Given the description of an element on the screen output the (x, y) to click on. 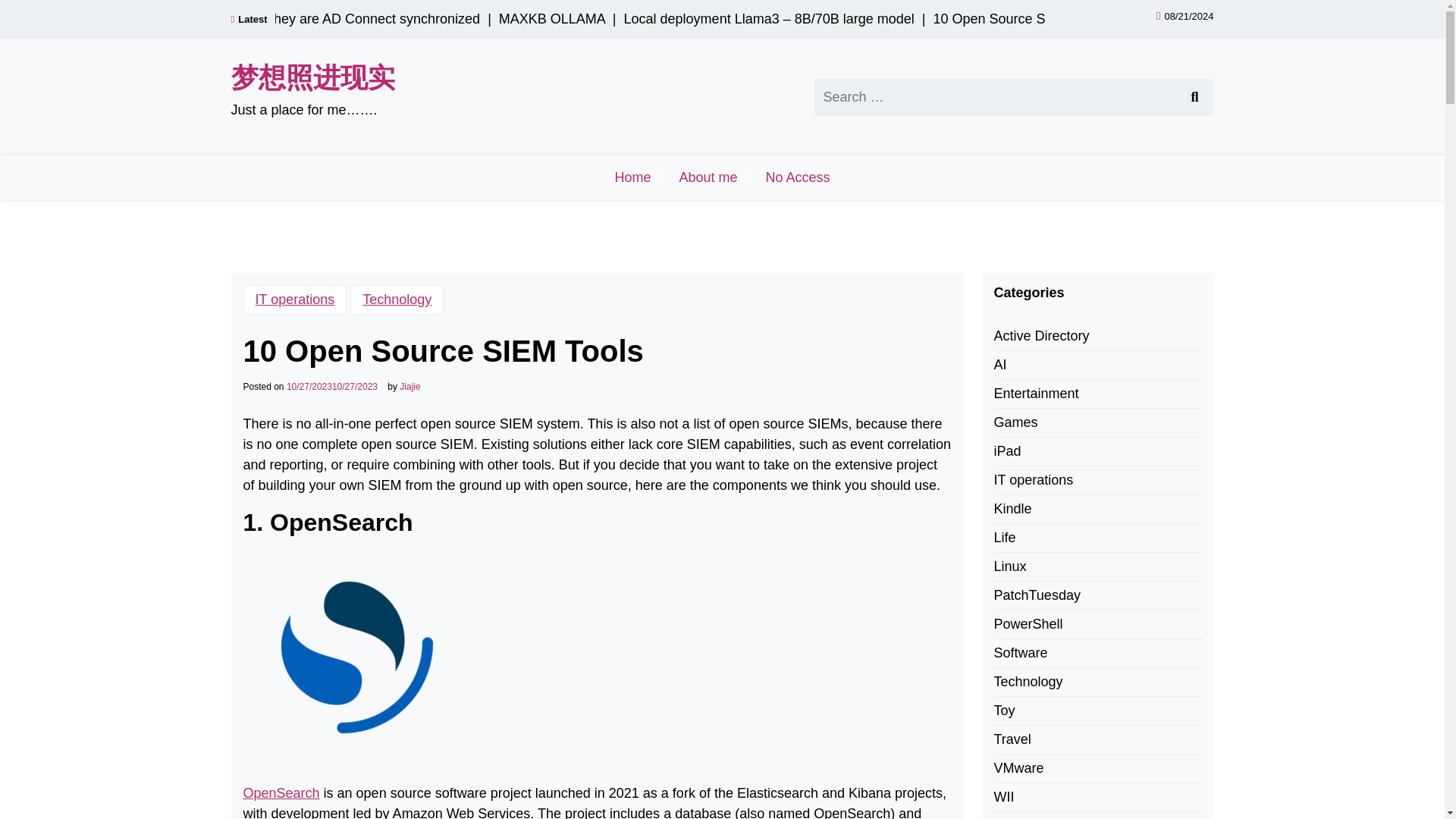
Kindle (1011, 508)
About me (707, 177)
IT operations (294, 299)
Search (1193, 96)
Search (1193, 96)
Search (1193, 96)
Entertainment (1035, 394)
Home (632, 177)
No Access (798, 177)
IT operations (1032, 480)
